Given the description of an element on the screen output the (x, y) to click on. 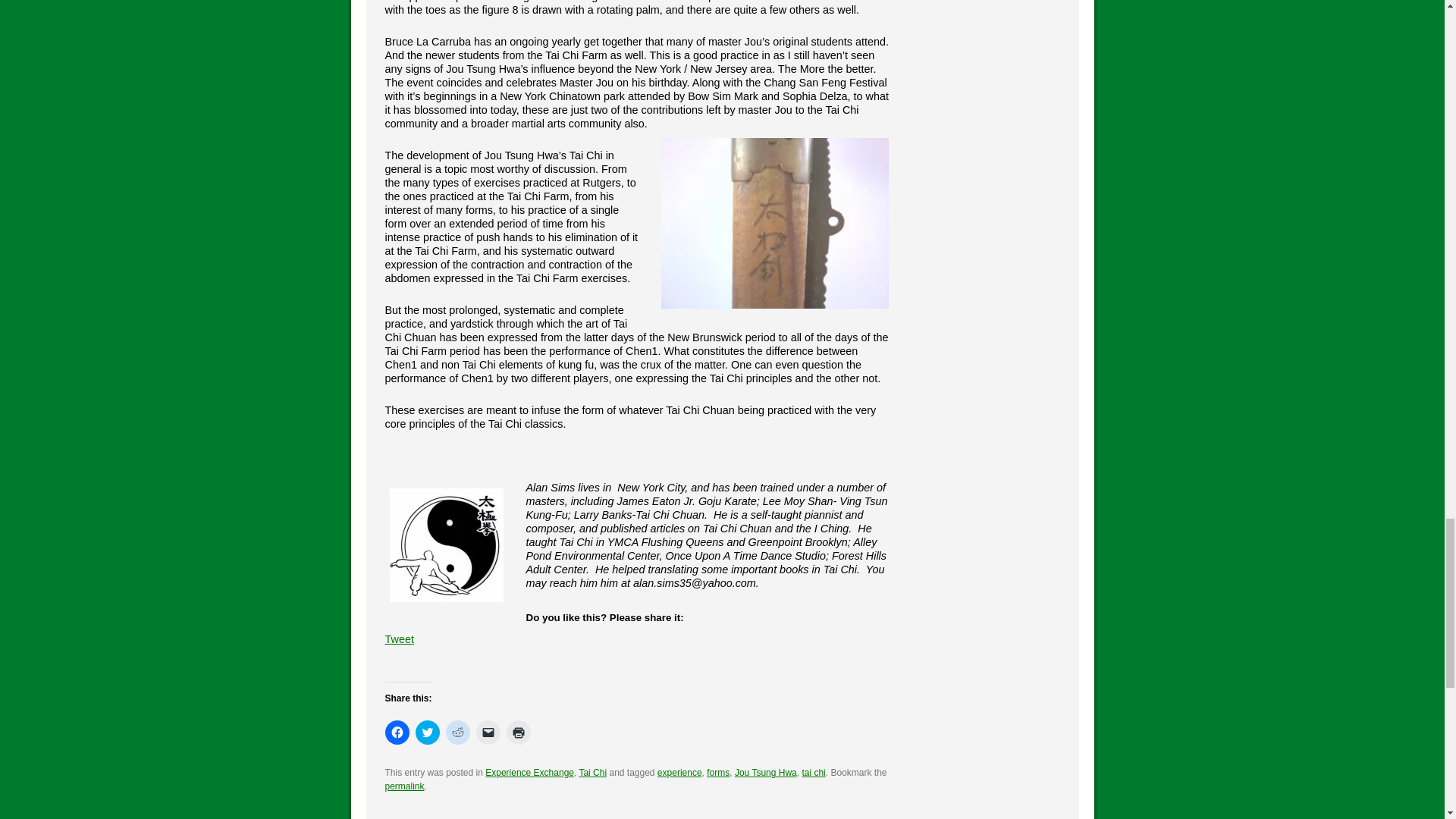
Share on StumbleUpon (486, 660)
Click to share on Facebook (397, 732)
Share on Myspace (470, 660)
Share on Technorati (502, 660)
Click to share on Twitter (426, 732)
Email a Friend (422, 660)
Click to share on Reddit (457, 732)
Share on Blogger (438, 660)
Share on Google (454, 660)
Share on Twitter (406, 660)
RSS Feed (518, 660)
Share on Facebook (391, 660)
